Given the description of an element on the screen output the (x, y) to click on. 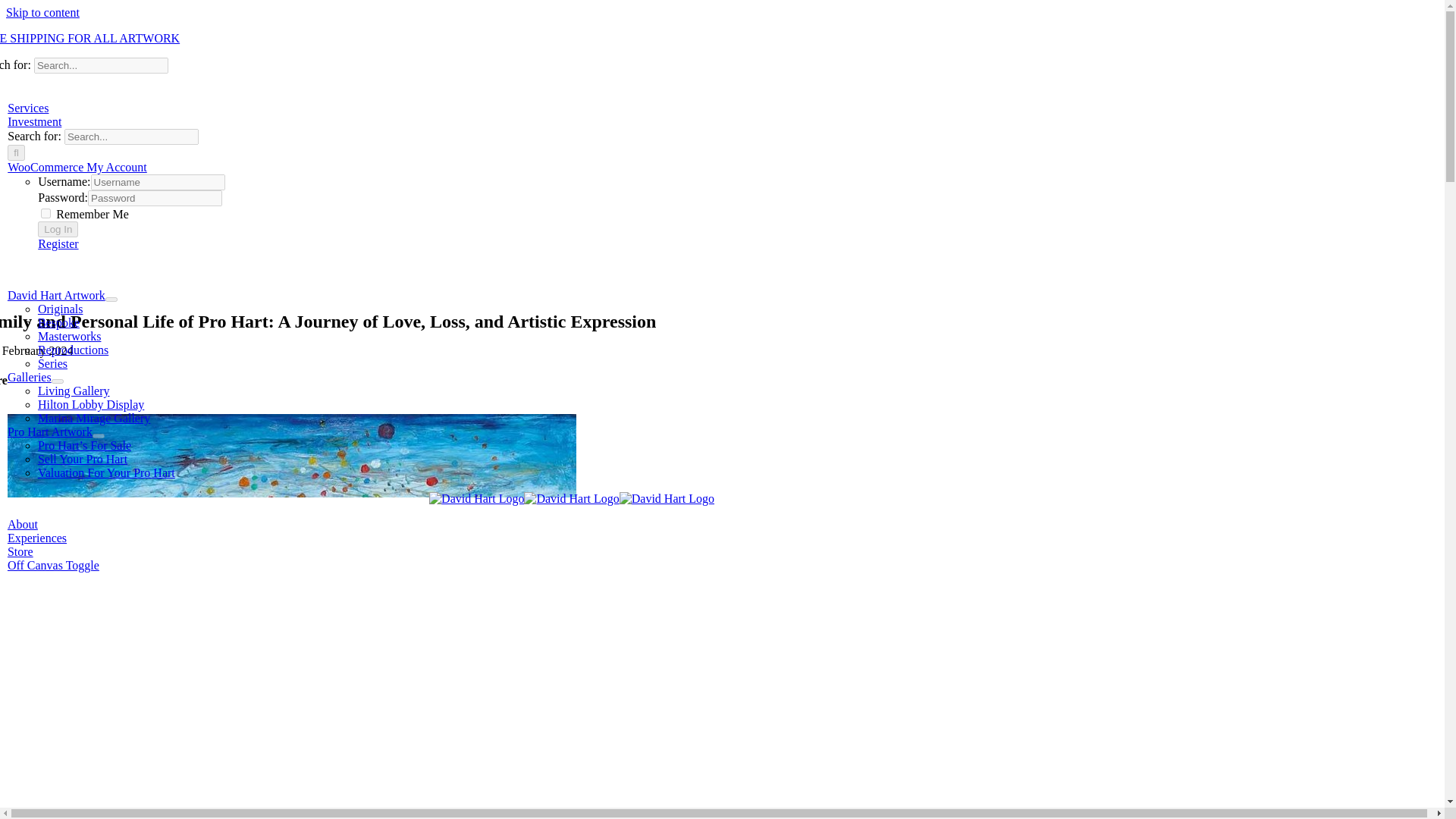
FREE SHIPPING FOR ALL ARTWORK (89, 38)
Bespoke (58, 322)
Log In (57, 229)
Masterworks (69, 336)
Originals (59, 308)
Hilton Lobby Display (90, 404)
Log In (57, 229)
Series (51, 363)
forever (45, 213)
Services (27, 107)
